Given the description of an element on the screen output the (x, y) to click on. 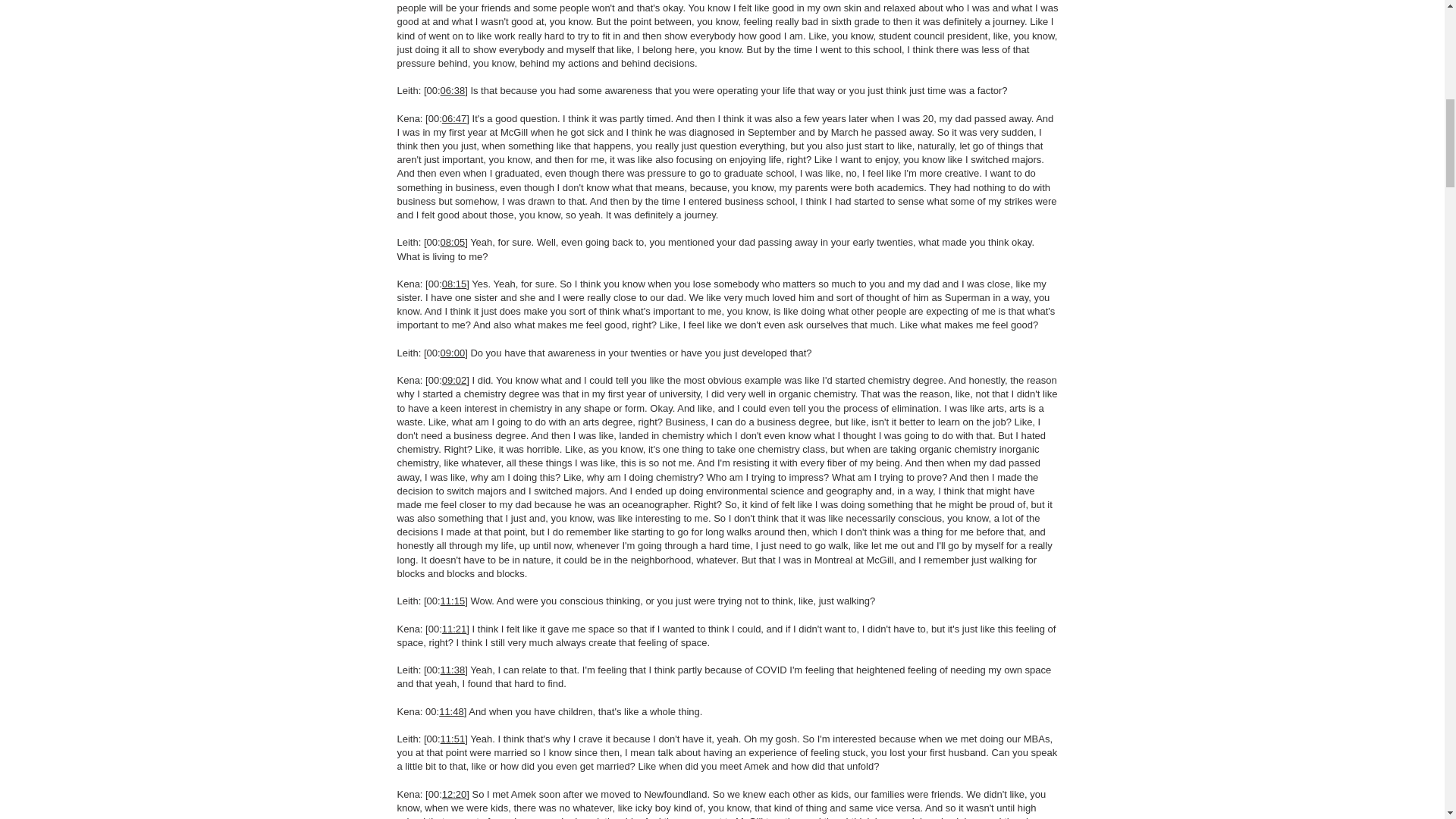
08:15 (454, 283)
09:00 (453, 352)
12:20 (454, 794)
08:05 (453, 242)
11:48 (451, 711)
06:47 (454, 118)
09:02 (454, 379)
11:21 (454, 628)
06:38 (453, 90)
11:38 (453, 669)
11:51 (453, 738)
11:15 (453, 600)
